Given the description of an element on the screen output the (x, y) to click on. 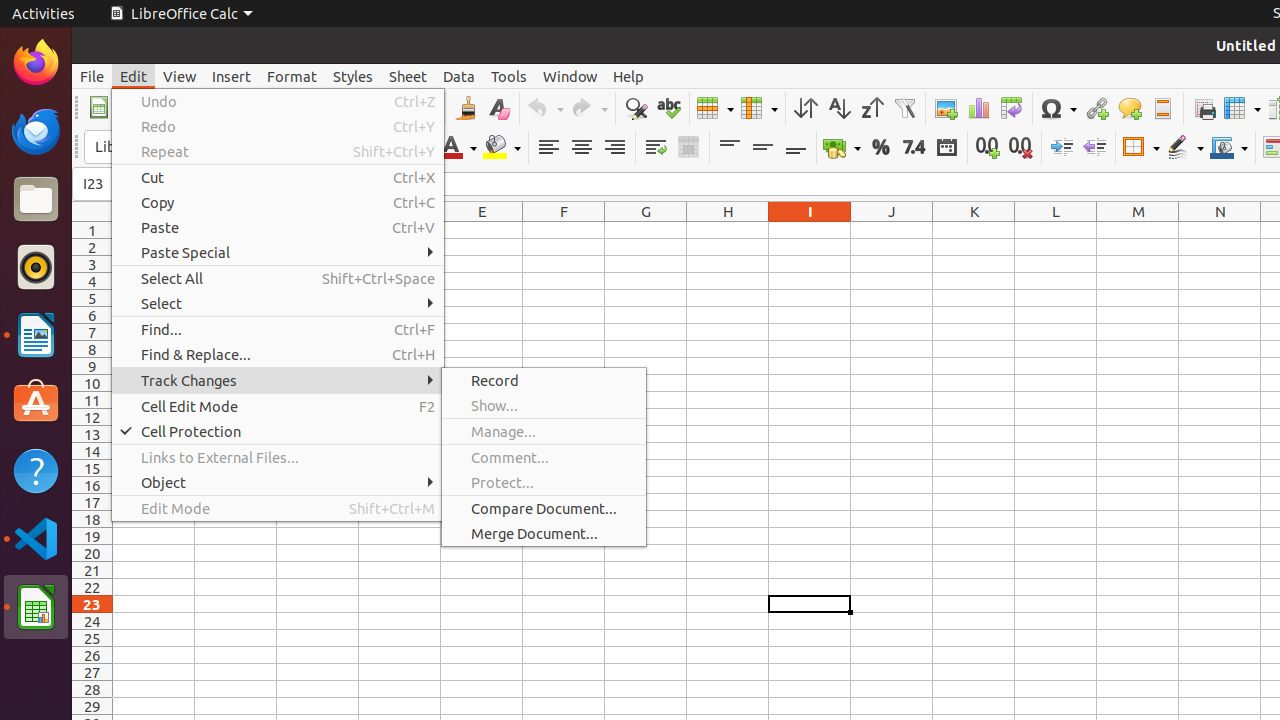
Tools Element type: menu (509, 76)
View Element type: menu (179, 76)
K1 Element type: table-cell (974, 230)
Hyperlink Element type: toggle-button (1096, 108)
